Given the description of an element on the screen output the (x, y) to click on. 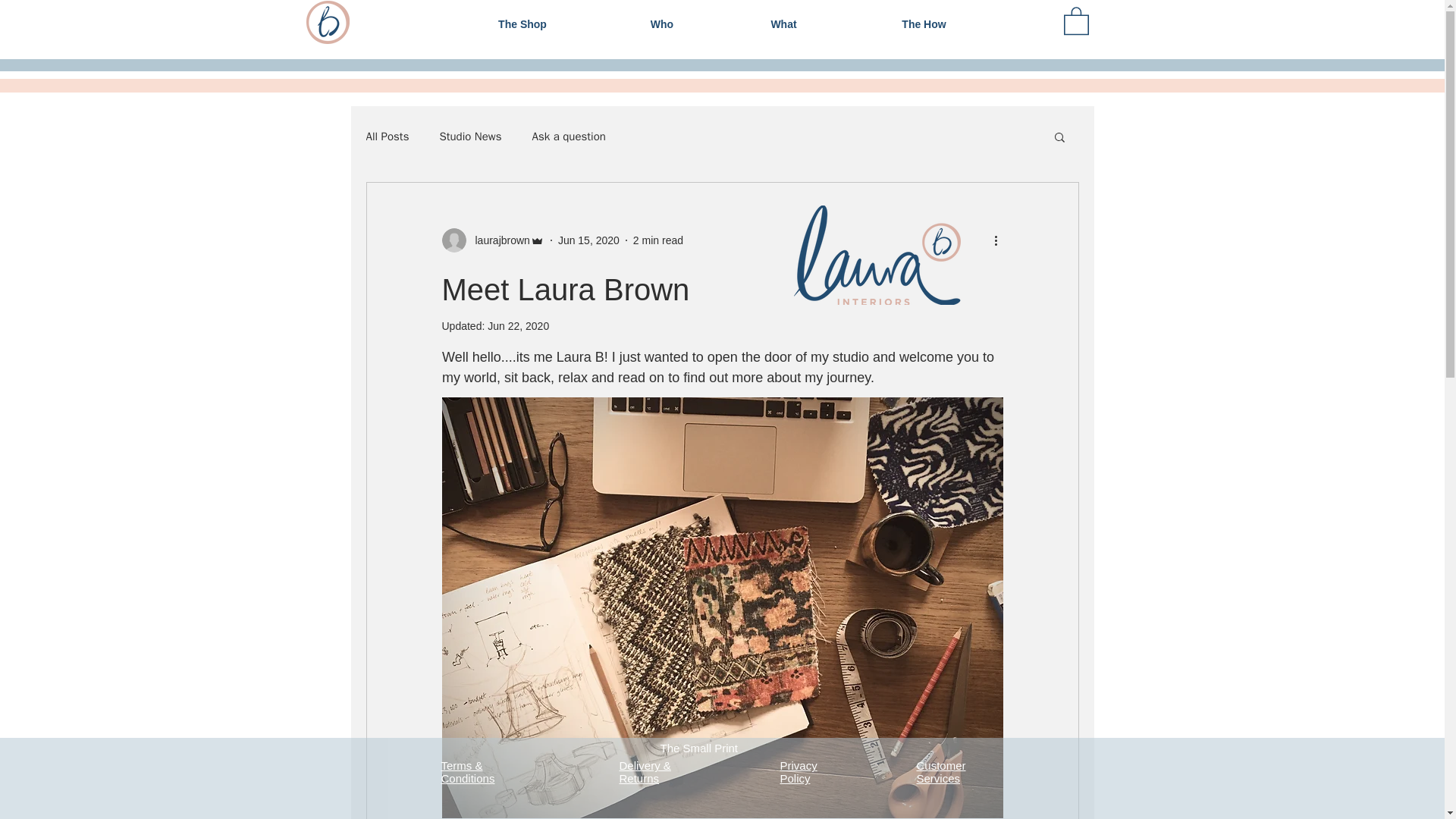
laurajbrown (497, 240)
Jun 22, 2020 (517, 326)
The Shop (521, 23)
Ask a question (568, 136)
2 min read (657, 240)
All Posts (387, 136)
The How (923, 23)
What (782, 23)
Privacy Policy (797, 771)
Who (662, 23)
